Given the description of an element on the screen output the (x, y) to click on. 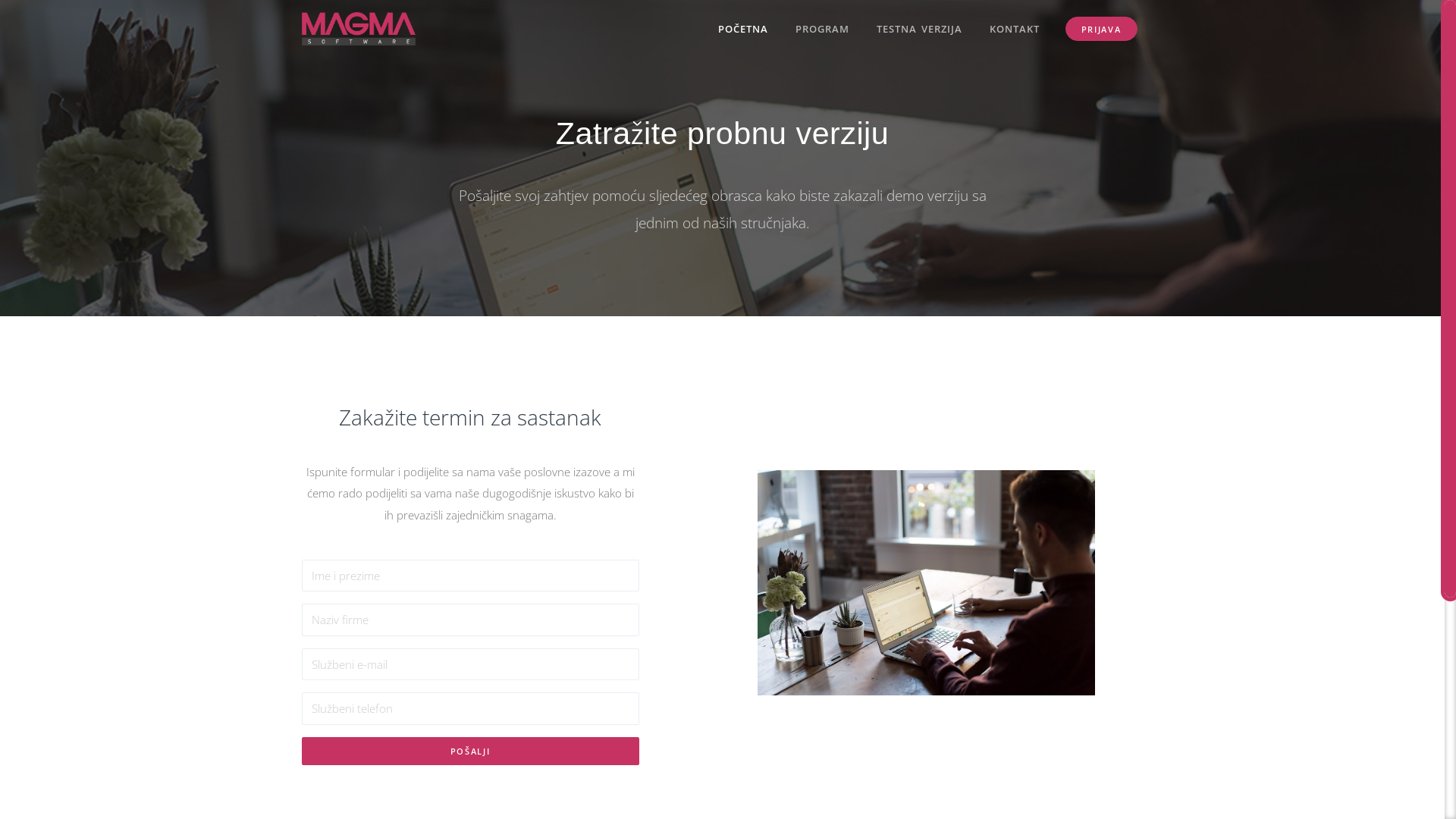
PRIJAVA Element type: text (1101, 28)
PROGRAM Element type: text (821, 28)
KONTAKT Element type: text (1014, 28)
TESTNA VERZIJA Element type: text (918, 28)
